Given the description of an element on the screen output the (x, y) to click on. 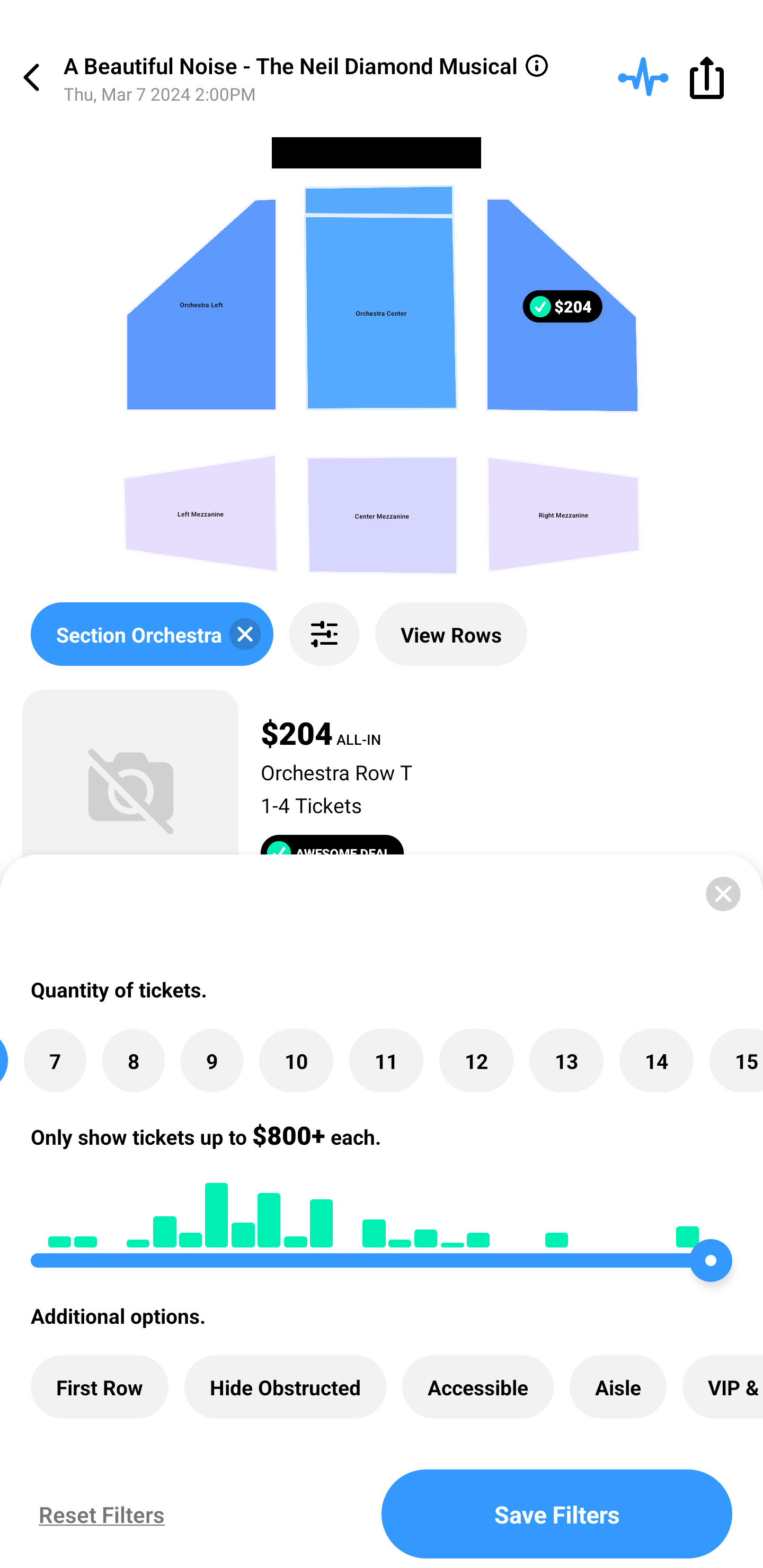
7 (54, 1060)
8 (133, 1060)
9 (211, 1060)
10 (296, 1060)
11 (386, 1060)
12 (476, 1060)
13 (566, 1060)
14 (656, 1060)
15 (736, 1060)
First Row (99, 1386)
Hide Obstructed (285, 1386)
Accessible (477, 1386)
Aisle (617, 1386)
VIP & Add-Ons (722, 1386)
Save Filters (556, 1513)
Reset Filters (97, 1513)
